Given the description of an element on the screen output the (x, y) to click on. 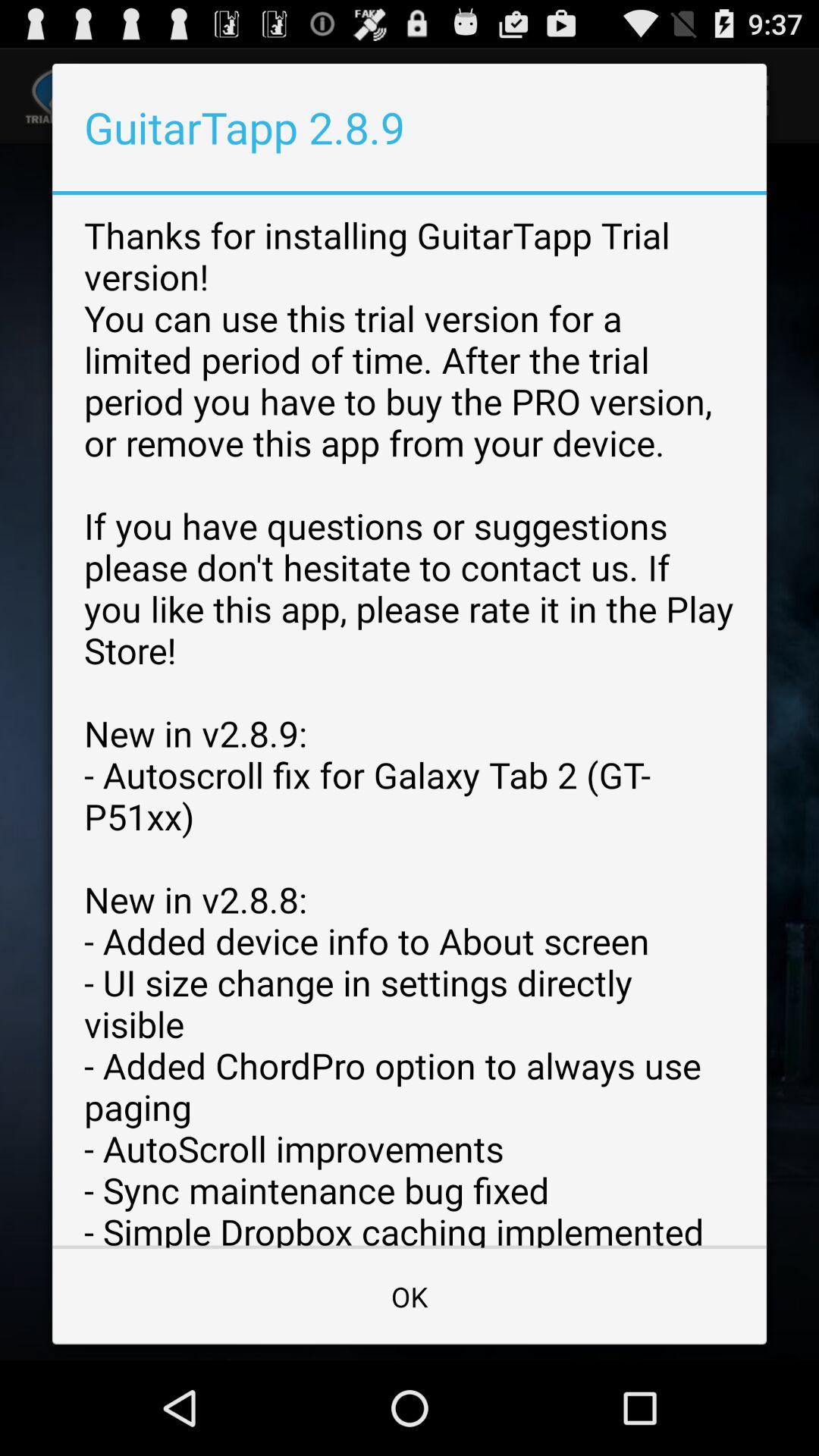
choose the ok item (409, 1296)
